Given the description of an element on the screen output the (x, y) to click on. 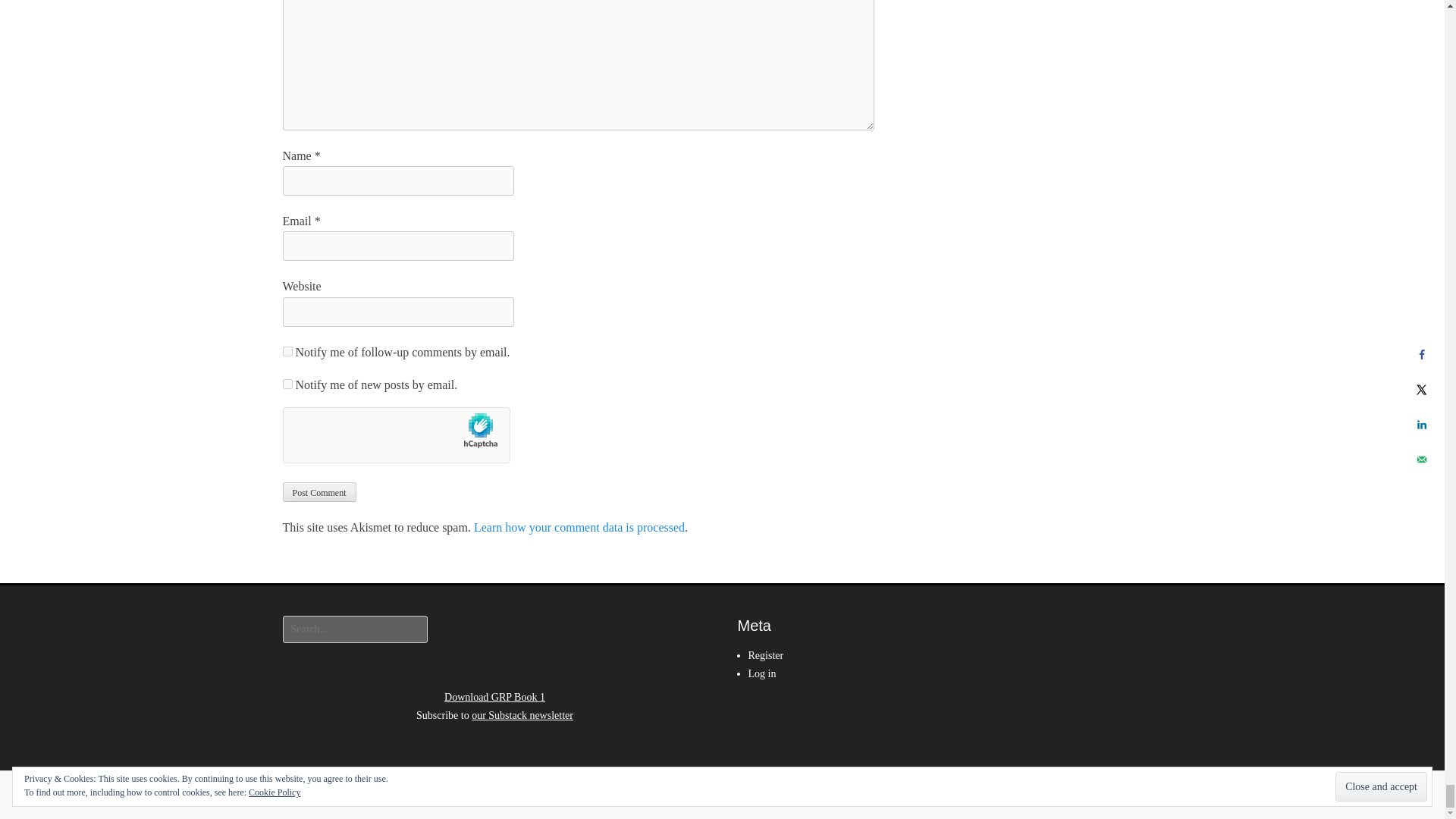
Post Comment (318, 492)
subscribe (287, 351)
subscribe (287, 384)
